Given the description of an element on the screen output the (x, y) to click on. 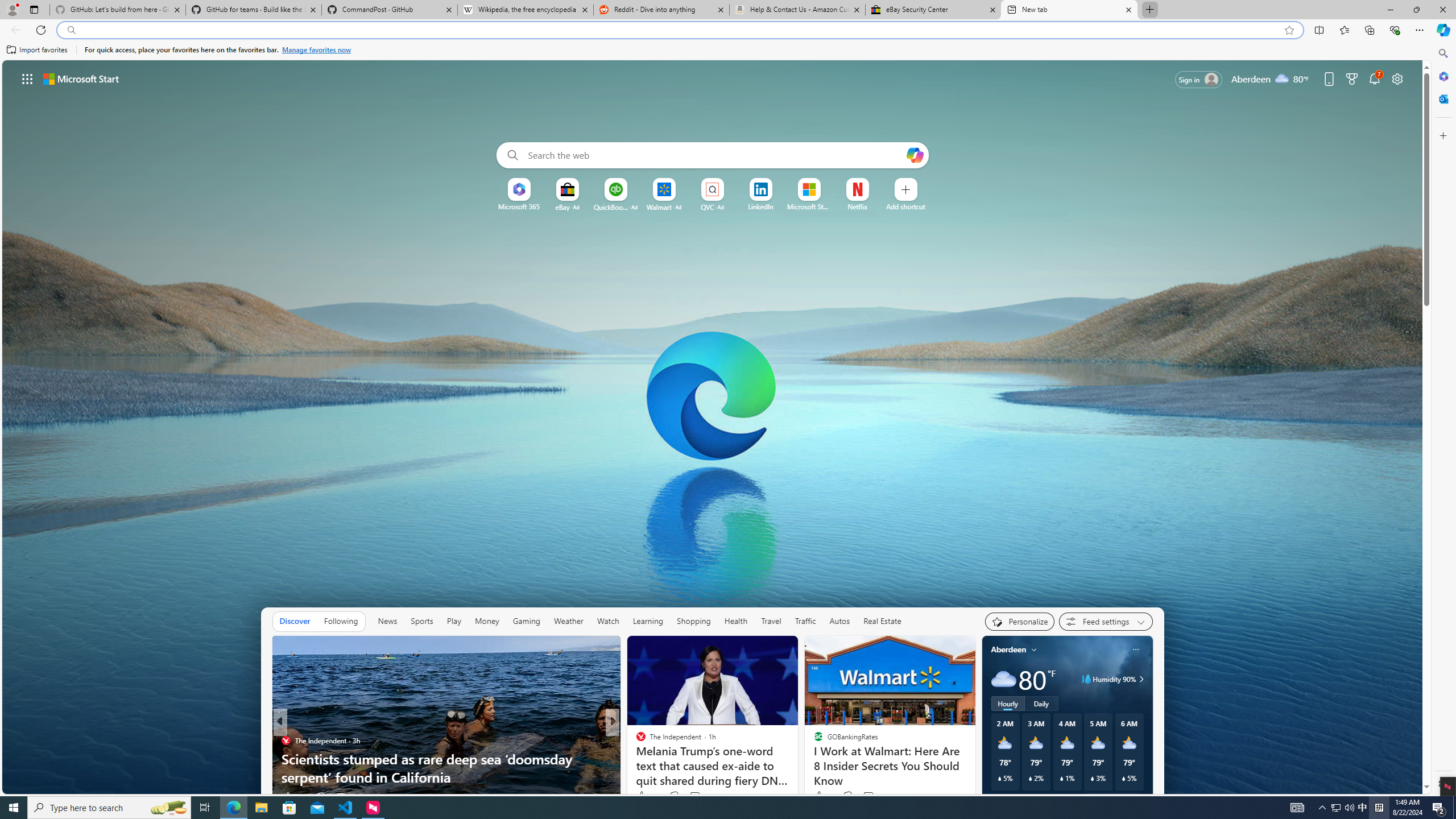
5 Like (639, 796)
View comments 8 Comment (691, 797)
Manage favorites now (316, 49)
Enter your search term (714, 155)
